Given the description of an element on the screen output the (x, y) to click on. 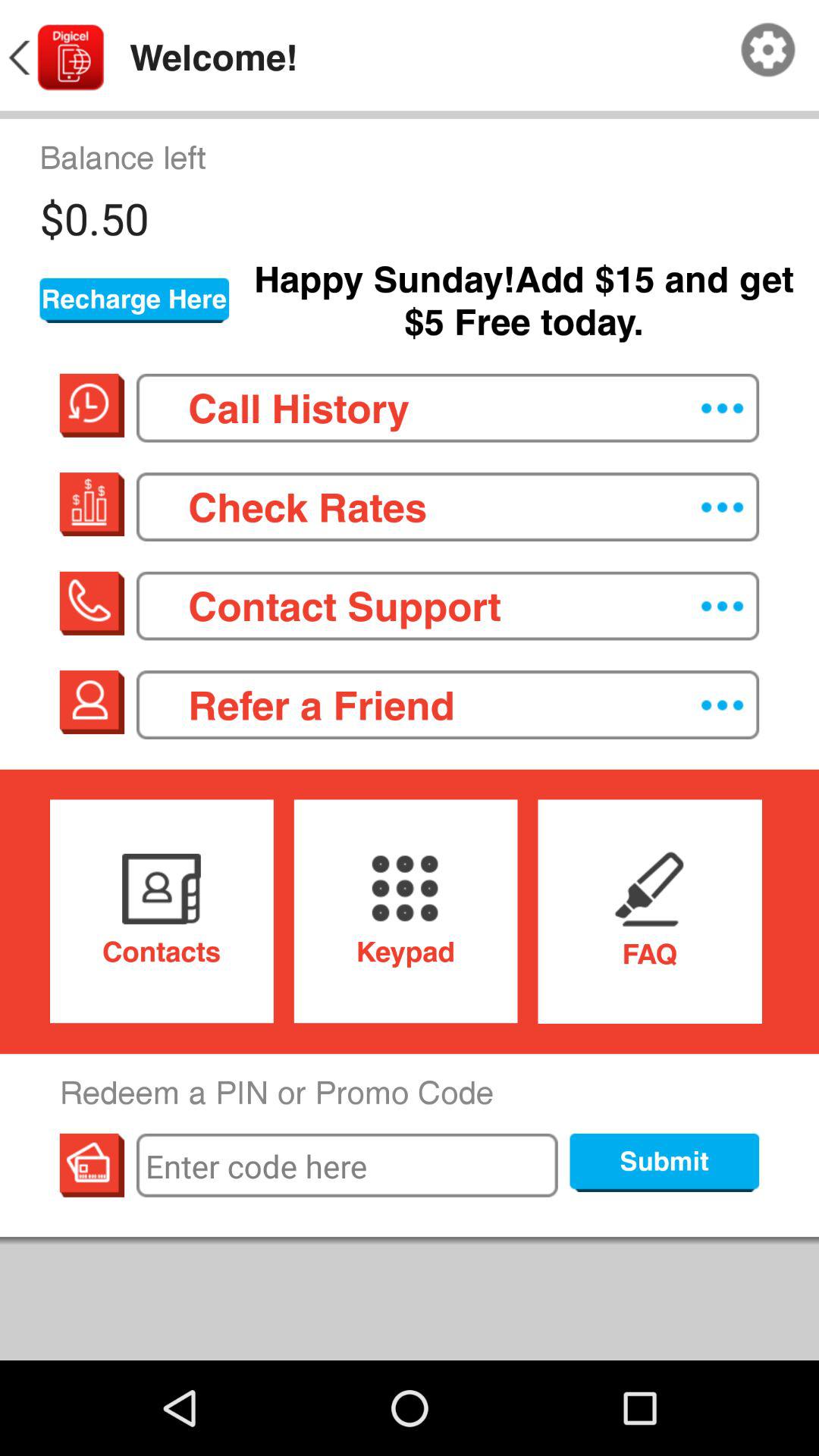
click on submit (664, 1163)
